Given the description of an element on the screen output the (x, y) to click on. 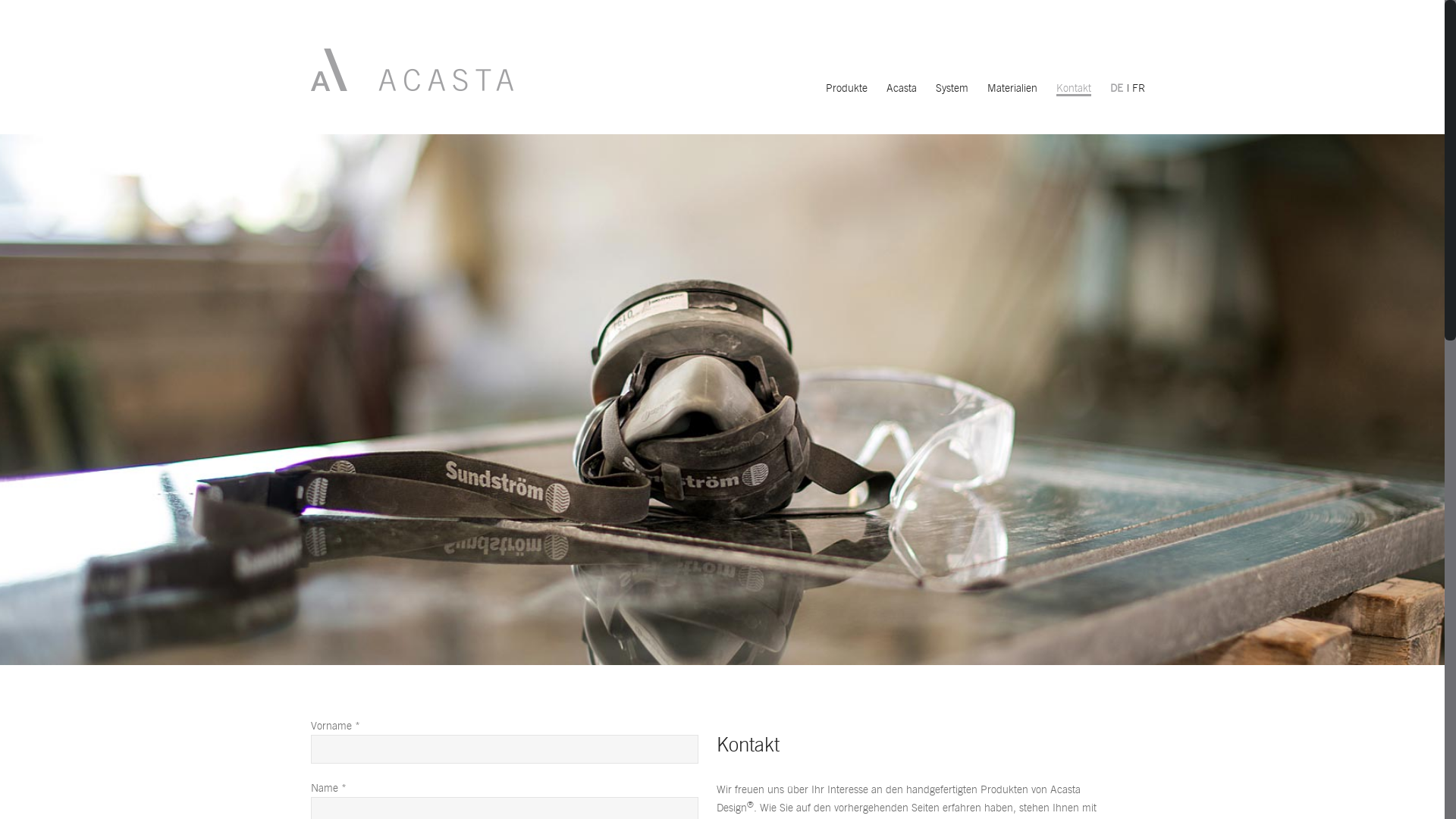
Acasta Element type: text (901, 87)
FR Element type: text (1135, 87)
Kontakt Element type: text (1073, 88)
DE Element type: text (1116, 87)
Materialien Element type: text (1012, 87)
Produkte Element type: text (846, 87)
System Element type: text (951, 87)
